Given the description of an element on the screen output the (x, y) to click on. 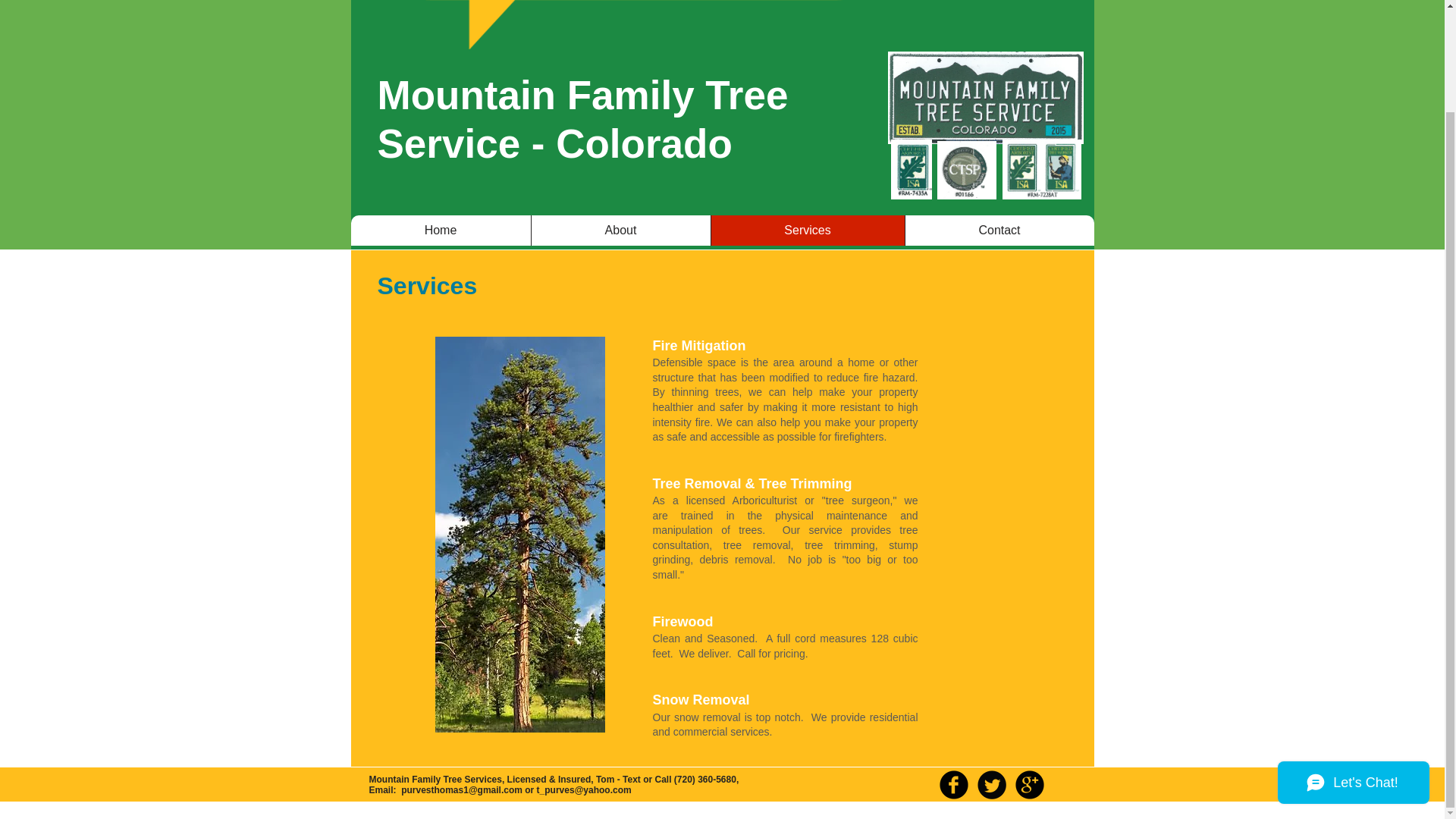
Contact (998, 230)
Home (439, 230)
Services (807, 230)
About (620, 230)
